Given the description of an element on the screen output the (x, y) to click on. 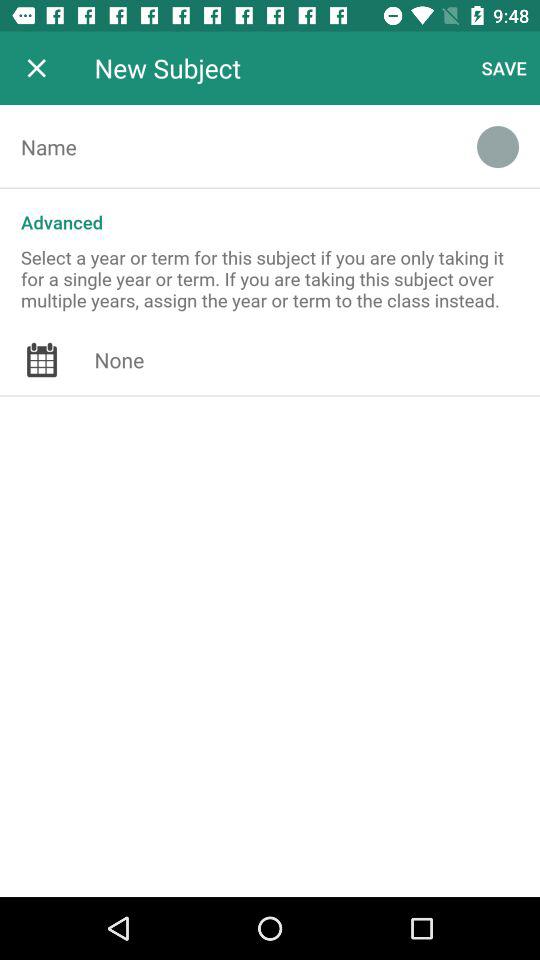
input name (228, 147)
